Given the description of an element on the screen output the (x, y) to click on. 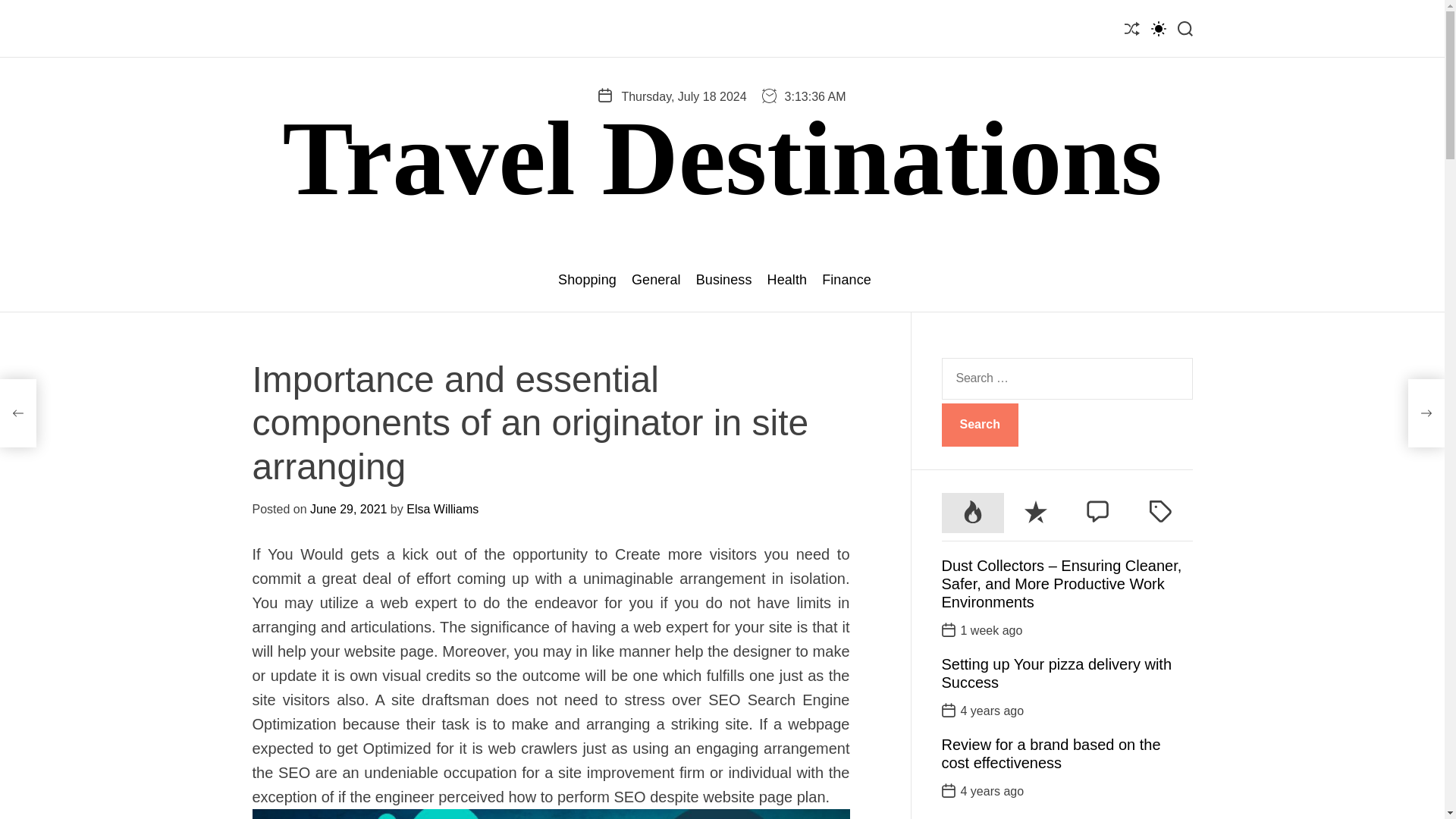
Setting up Your pizza delivery with Success (1057, 673)
Search (979, 424)
Shopping (586, 280)
Popular (973, 513)
Travel Destinations (721, 158)
Elsa Williams (442, 508)
General (656, 280)
Business (723, 280)
Tagged (1160, 513)
Finance (846, 280)
Review for a brand based on the cost effectiveness (1051, 753)
Recent (1035, 513)
June 29, 2021 (348, 508)
Search (979, 424)
Search (979, 424)
